Given the description of an element on the screen output the (x, y) to click on. 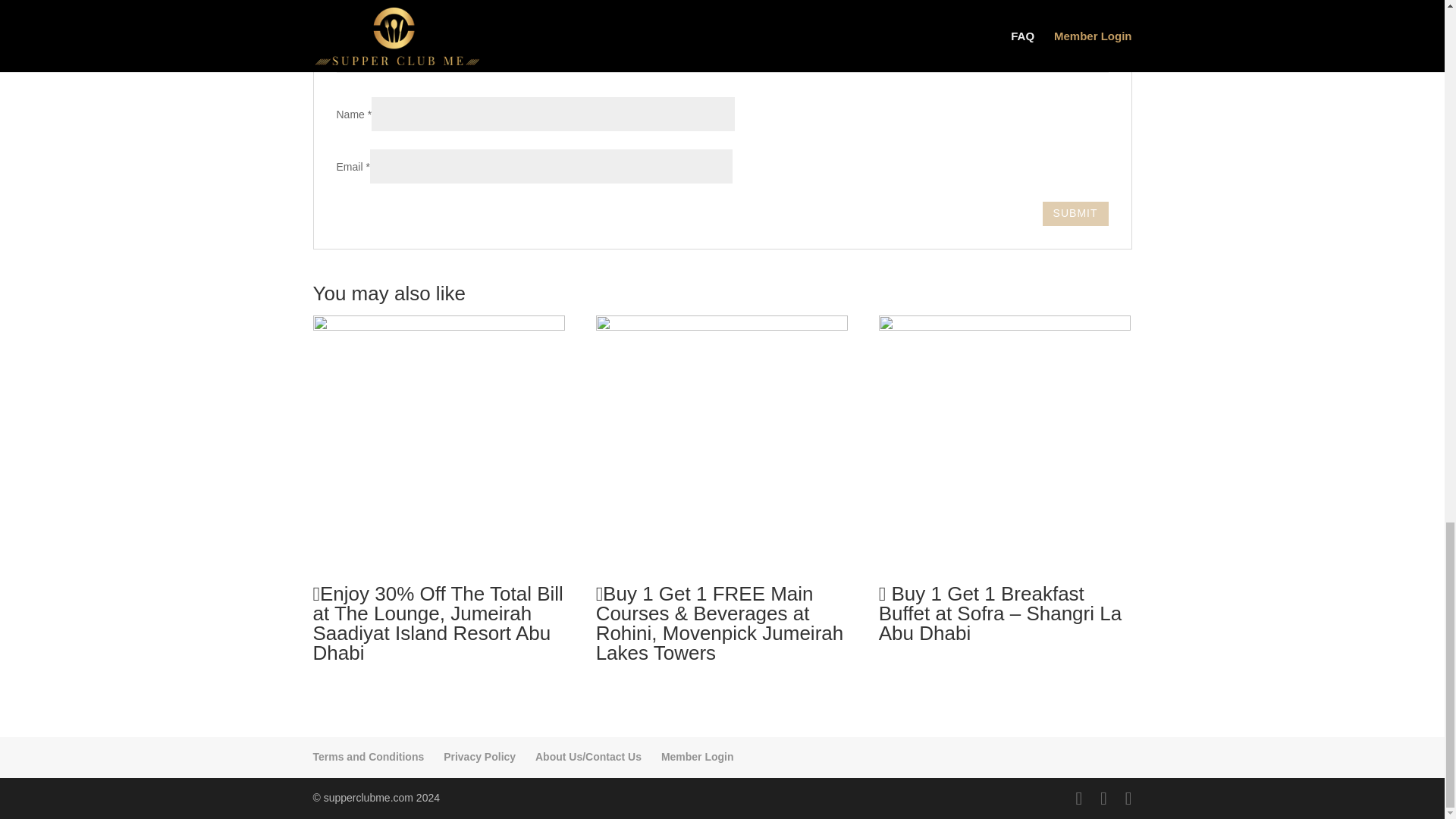
Privacy Policy (479, 756)
Terms and Conditions (368, 756)
Submit (1075, 213)
Submit (1075, 213)
Member Login (697, 756)
